Given the description of an element on the screen output the (x, y) to click on. 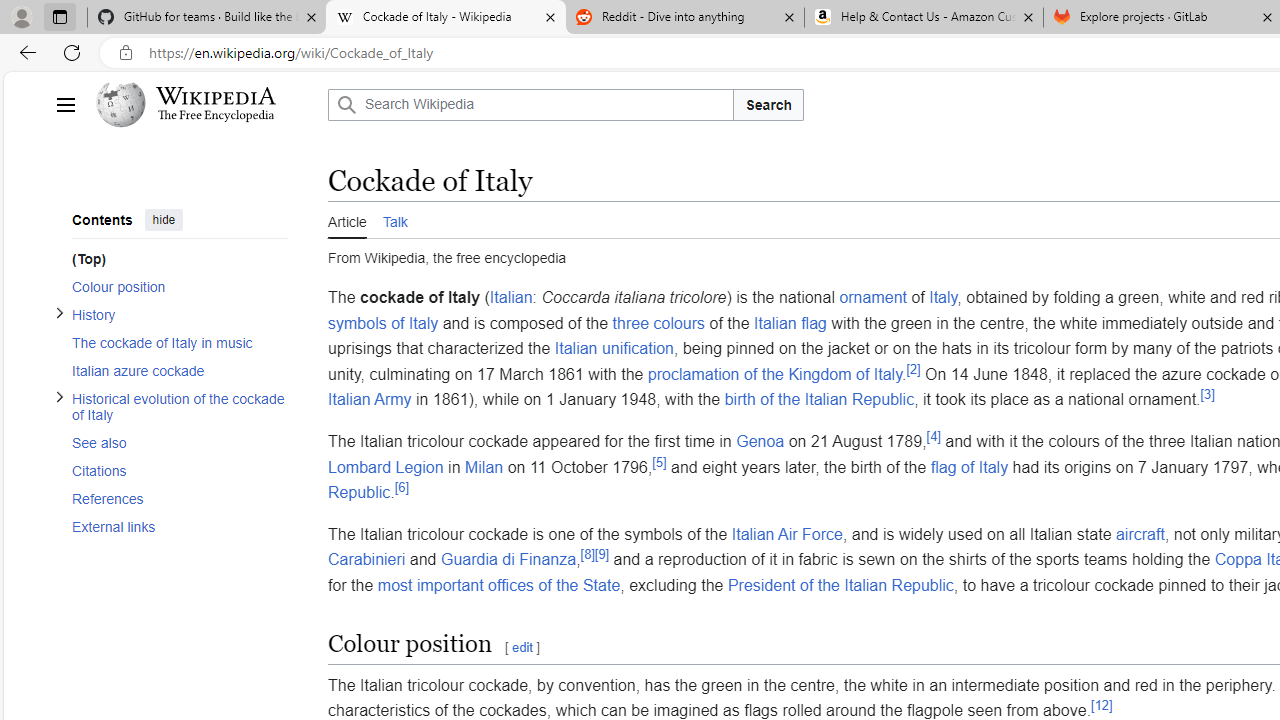
Talk (394, 219)
[5] (658, 462)
See also (179, 442)
Historical evolution of the cockade of Italy (179, 406)
Citations (179, 470)
Citations (174, 470)
Main menu (65, 104)
Colour position (174, 286)
External links (179, 525)
HistoryToggle History subsection (174, 314)
